Given the description of an element on the screen output the (x, y) to click on. 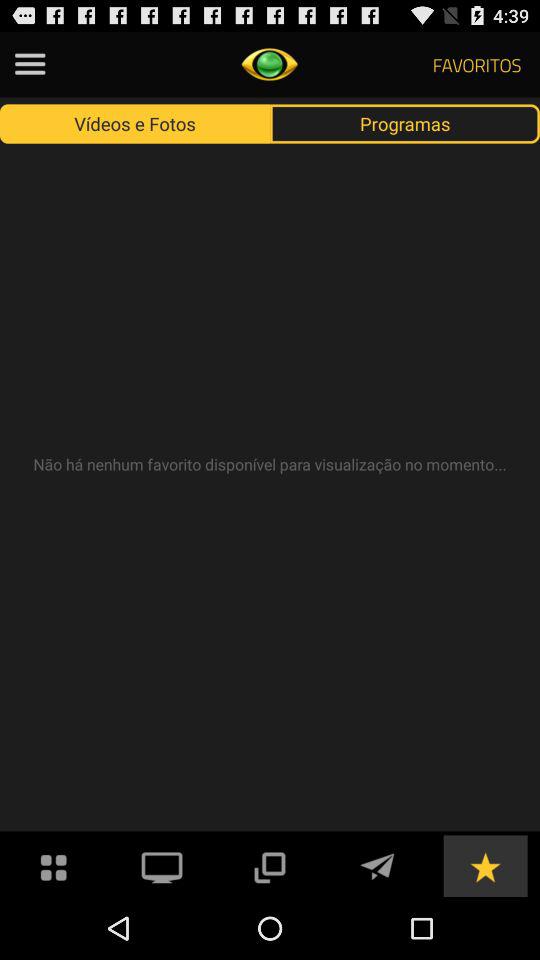
choose the item next to the programas item (135, 123)
